Given the description of an element on the screen output the (x, y) to click on. 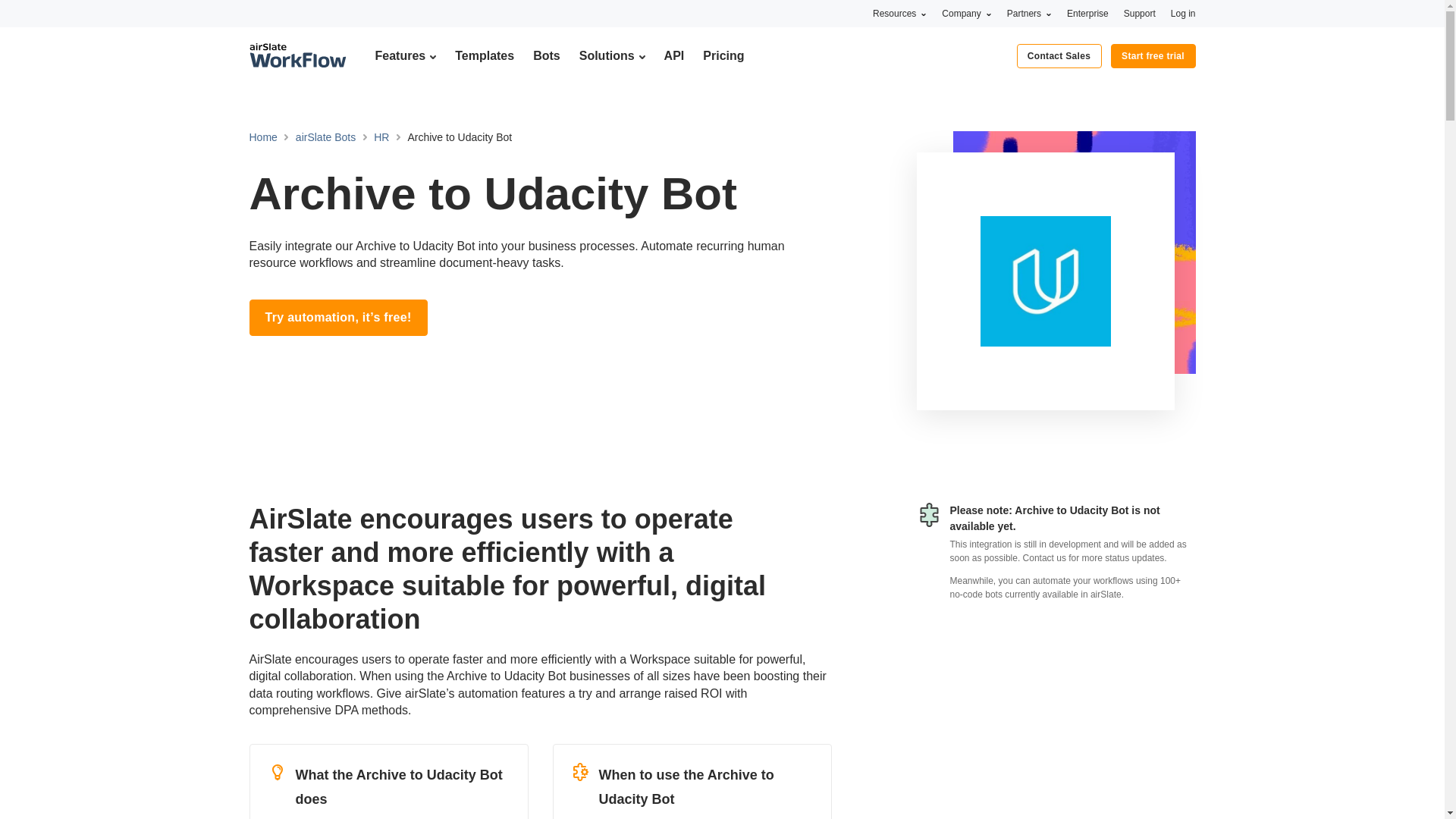
Log in (1182, 13)
Support (1140, 13)
Partners (1029, 13)
Enterprise (1087, 13)
Templates (483, 55)
Company (966, 13)
Resources (899, 13)
